Given the description of an element on the screen output the (x, y) to click on. 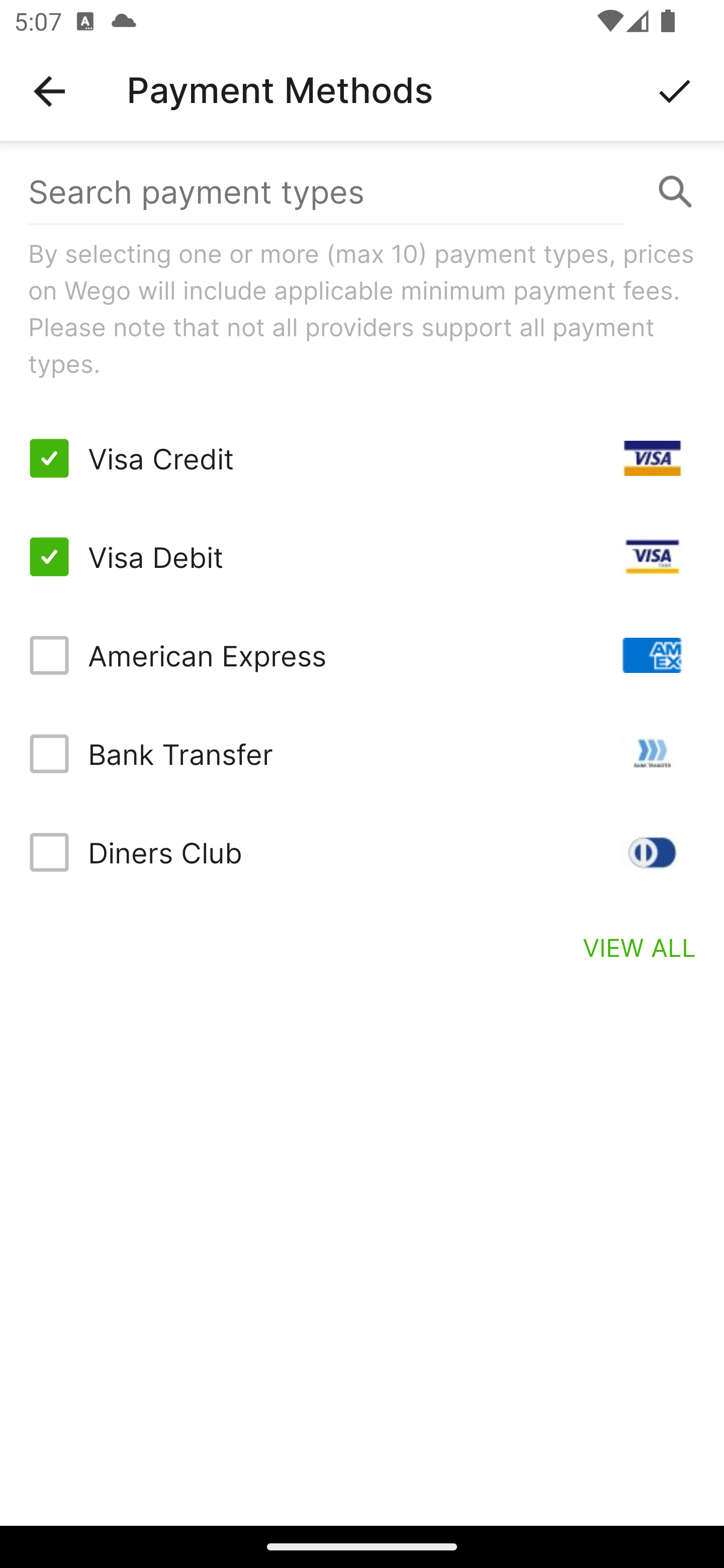
Search payment types  (361, 191)
Visa Credit (362, 458)
Visa Debit (362, 557)
American Express (362, 655)
Bank Transfer (362, 753)
Diners Club (362, 851)
VIEW ALL (639, 946)
